Given the description of an element on the screen output the (x, y) to click on. 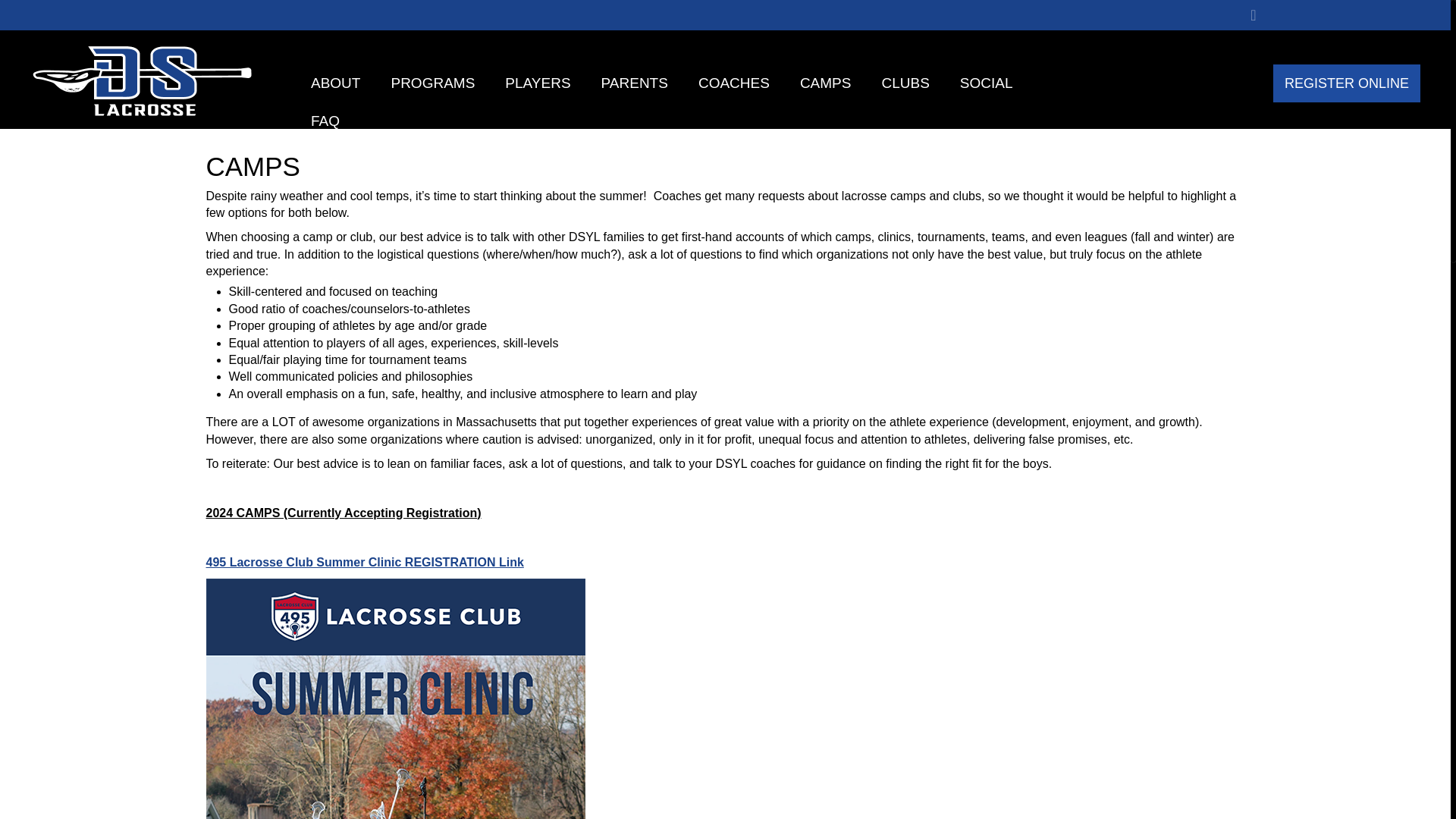
PLAYERS (537, 83)
PARENTS (634, 83)
CAMPS (825, 83)
COACHES (733, 83)
PROGRAMS (432, 83)
CLUBS (904, 83)
ABOUT (335, 83)
